Given the description of an element on the screen output the (x, y) to click on. 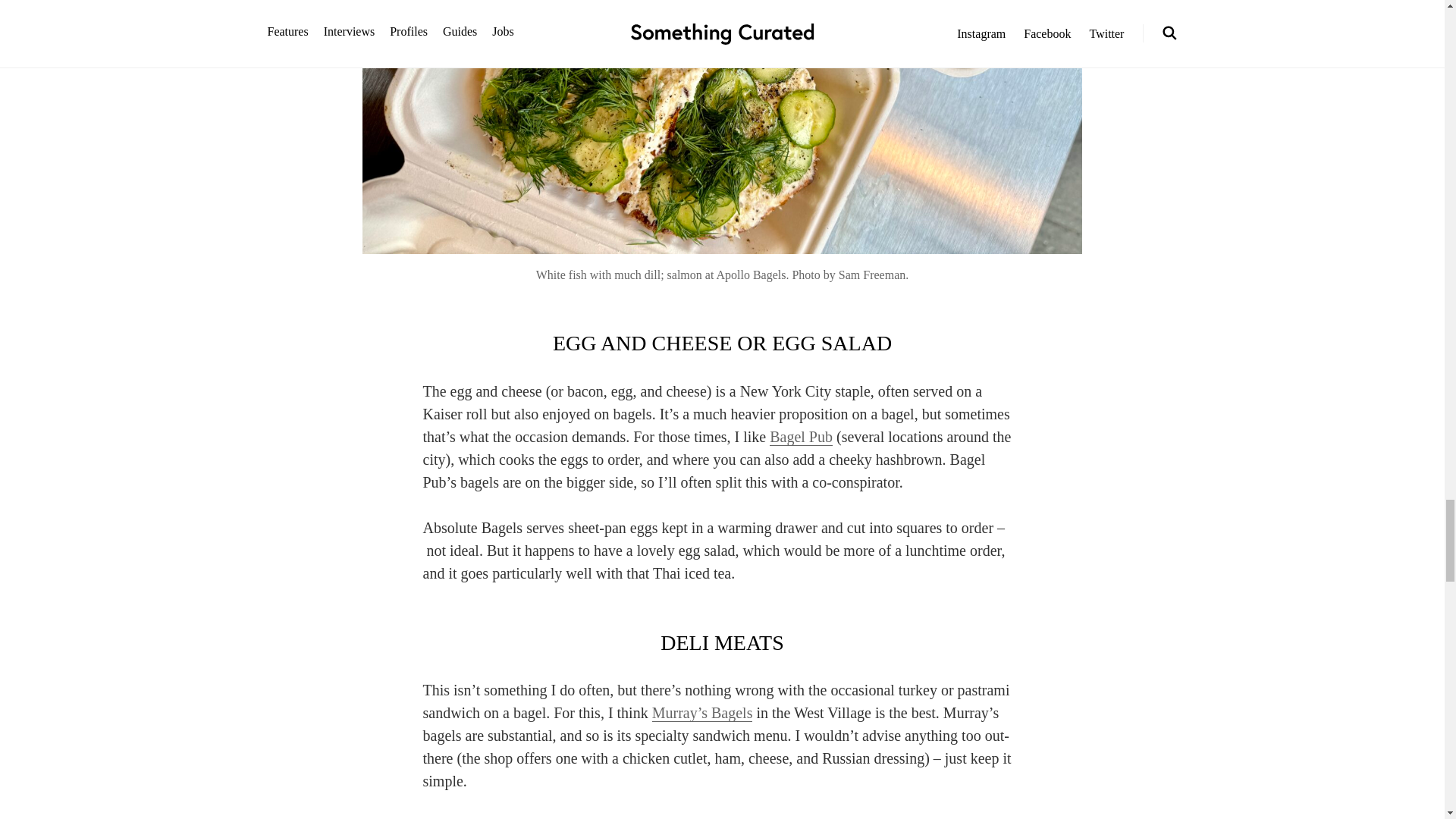
Bagel Pub (801, 436)
